Given the description of an element on the screen output the (x, y) to click on. 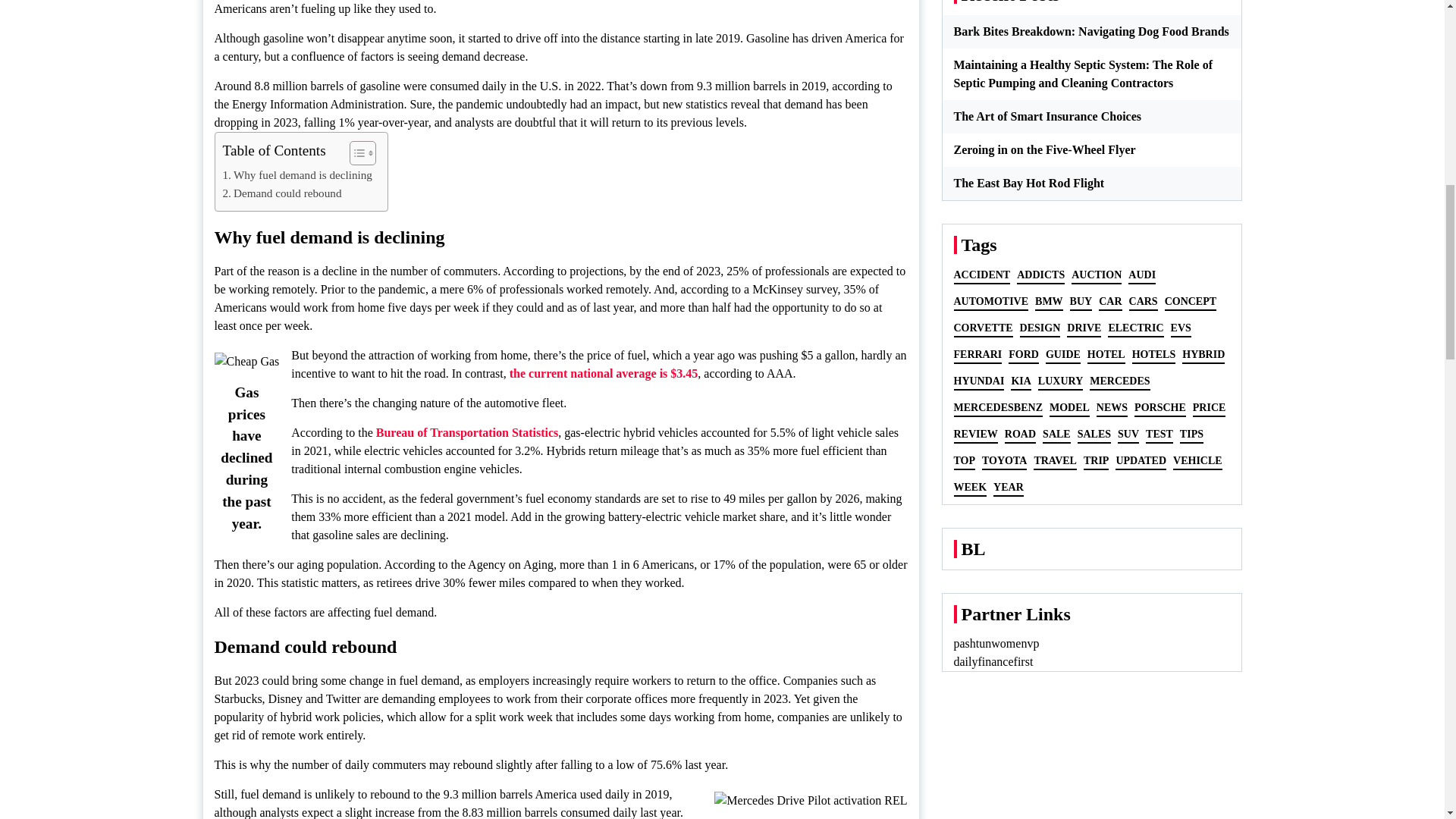
Why fuel demand is declining (297, 175)
Demand could rebound (282, 193)
